Given the description of an element on the screen output the (x, y) to click on. 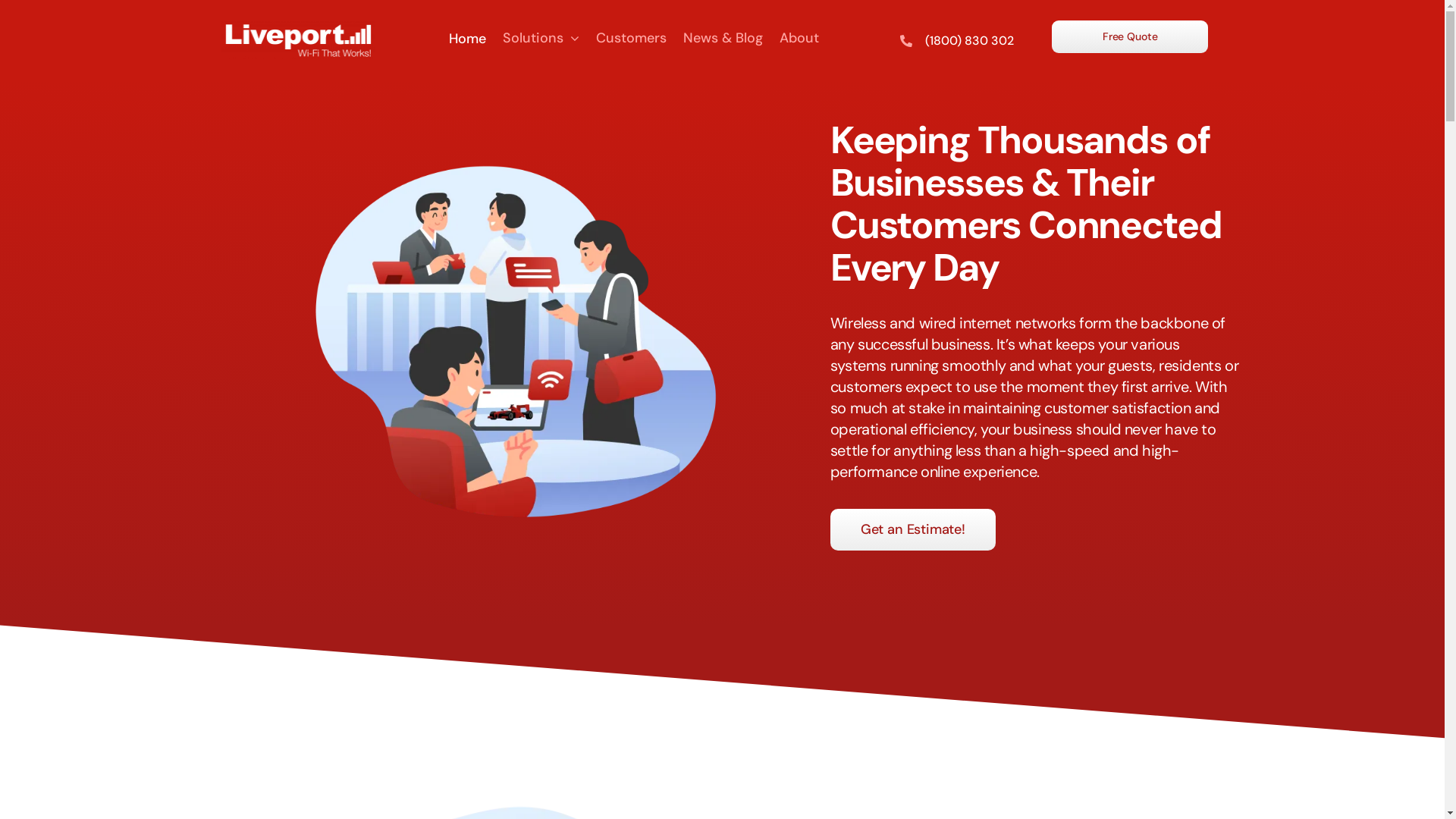
Home Main Image Element type: hover (514, 352)
Get an Estimate! Element type: text (912, 529)
Home Element type: text (467, 38)
News & Blog Element type: text (722, 39)
Solutions Element type: text (540, 39)
Free Quote Element type: text (1129, 36)
Customers Element type: text (631, 39)
About Element type: text (799, 39)
